Given the description of an element on the screen output the (x, y) to click on. 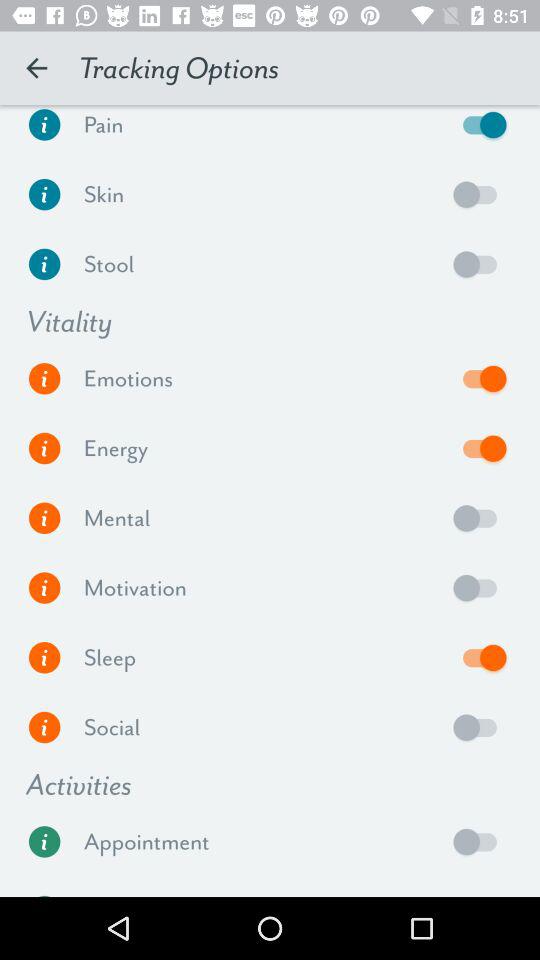
toggle energy (479, 448)
